Given the description of an element on the screen output the (x, y) to click on. 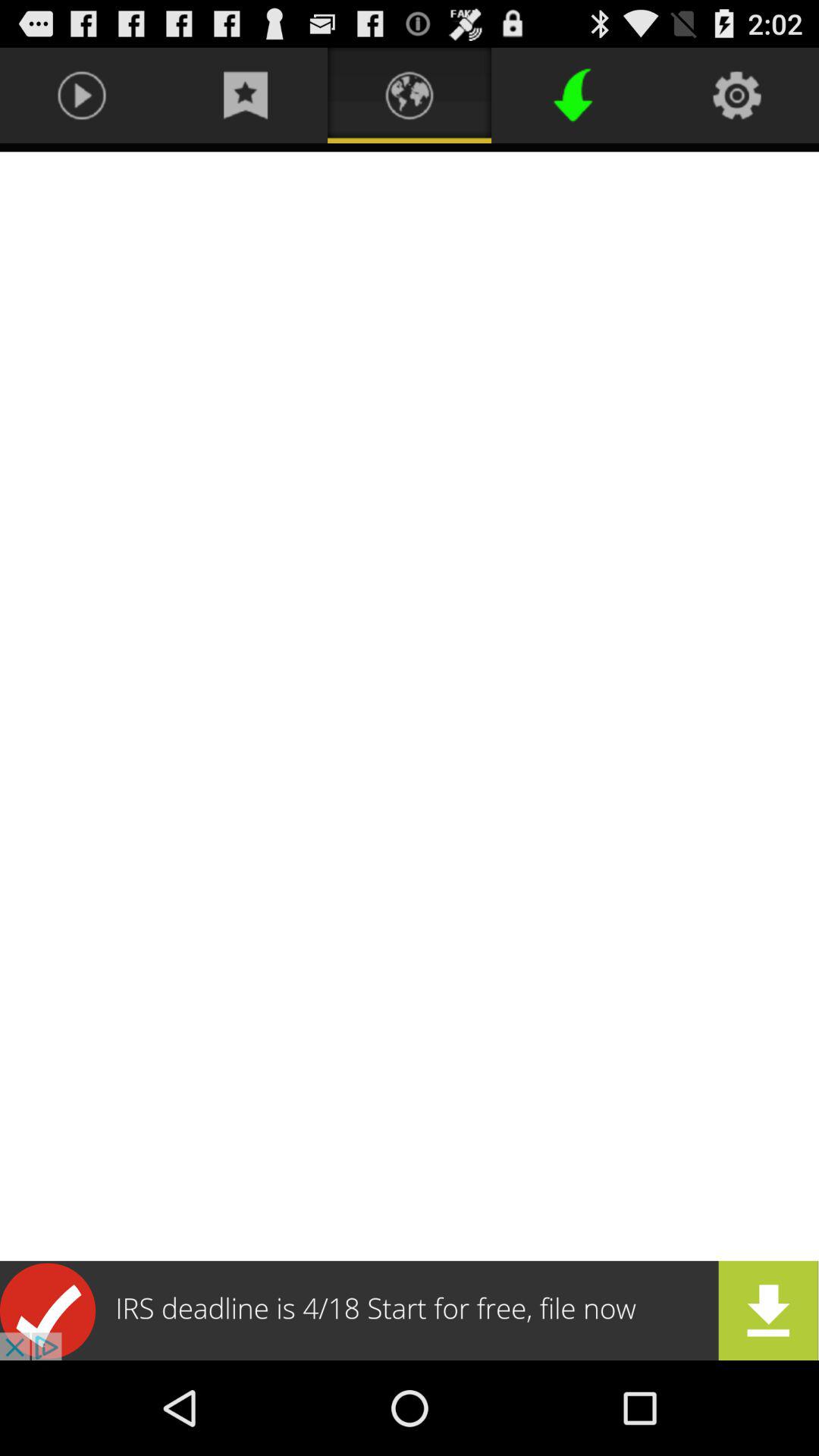
advertisement (409, 1310)
